Given the description of an element on the screen output the (x, y) to click on. 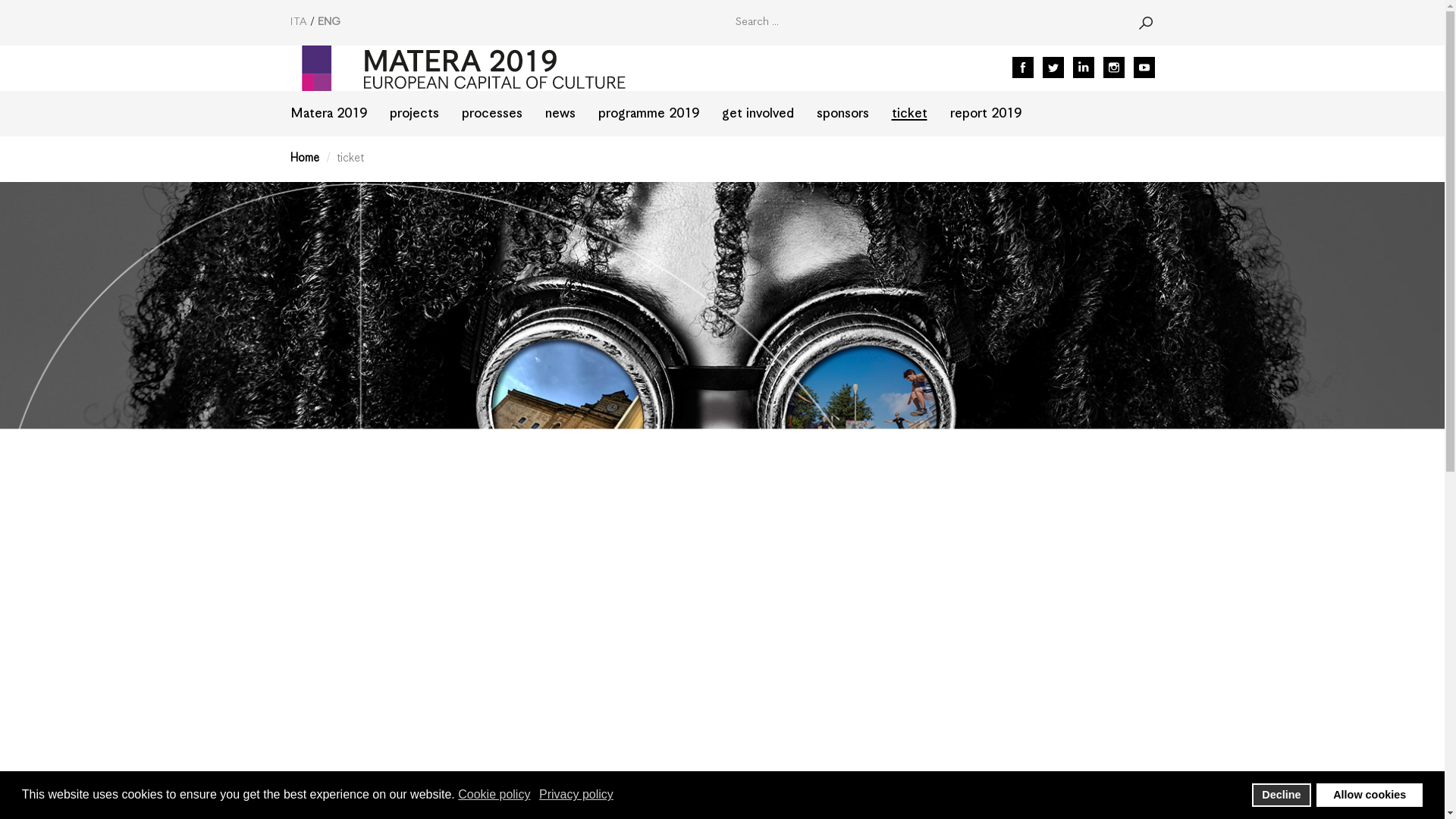
Cookie policy (495, 794)
ITA (298, 21)
Privacy policy (576, 794)
ENG (328, 21)
Allow cookies (1369, 794)
Decline (1281, 794)
